Given the description of an element on the screen output the (x, y) to click on. 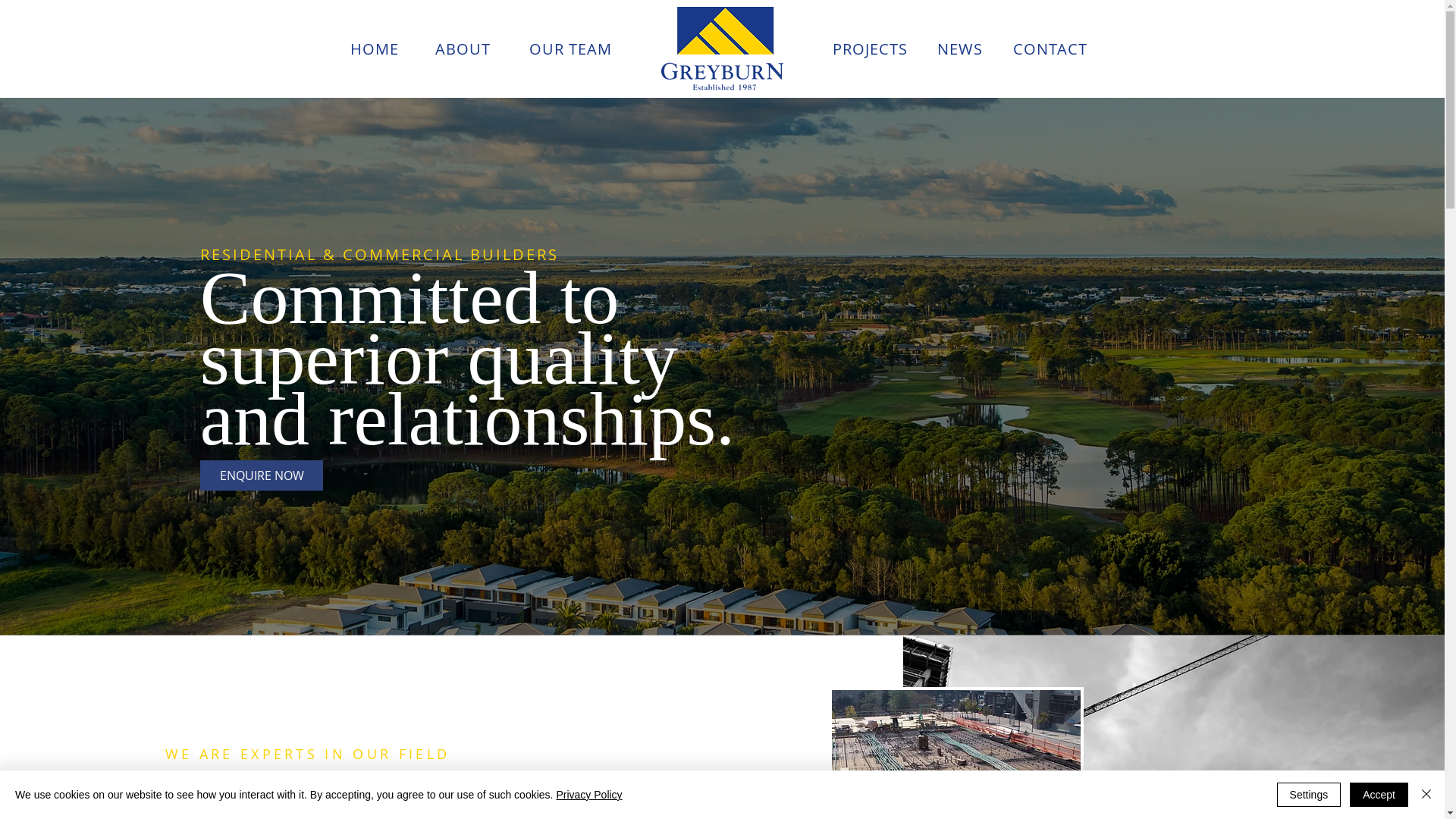
HOME Element type: text (386, 48)
ENQUIRE NOW Element type: text (261, 475)
OUR TEAM Element type: text (582, 48)
CONTACT Element type: text (1062, 48)
PROJECTS Element type: text (881, 48)
ABOUT Element type: text (475, 48)
Accept Element type: text (1378, 794)
Privacy Policy Element type: text (588, 794)
Settings Element type: text (1309, 794)
NEWS Element type: text (971, 48)
